Given the description of an element on the screen output the (x, y) to click on. 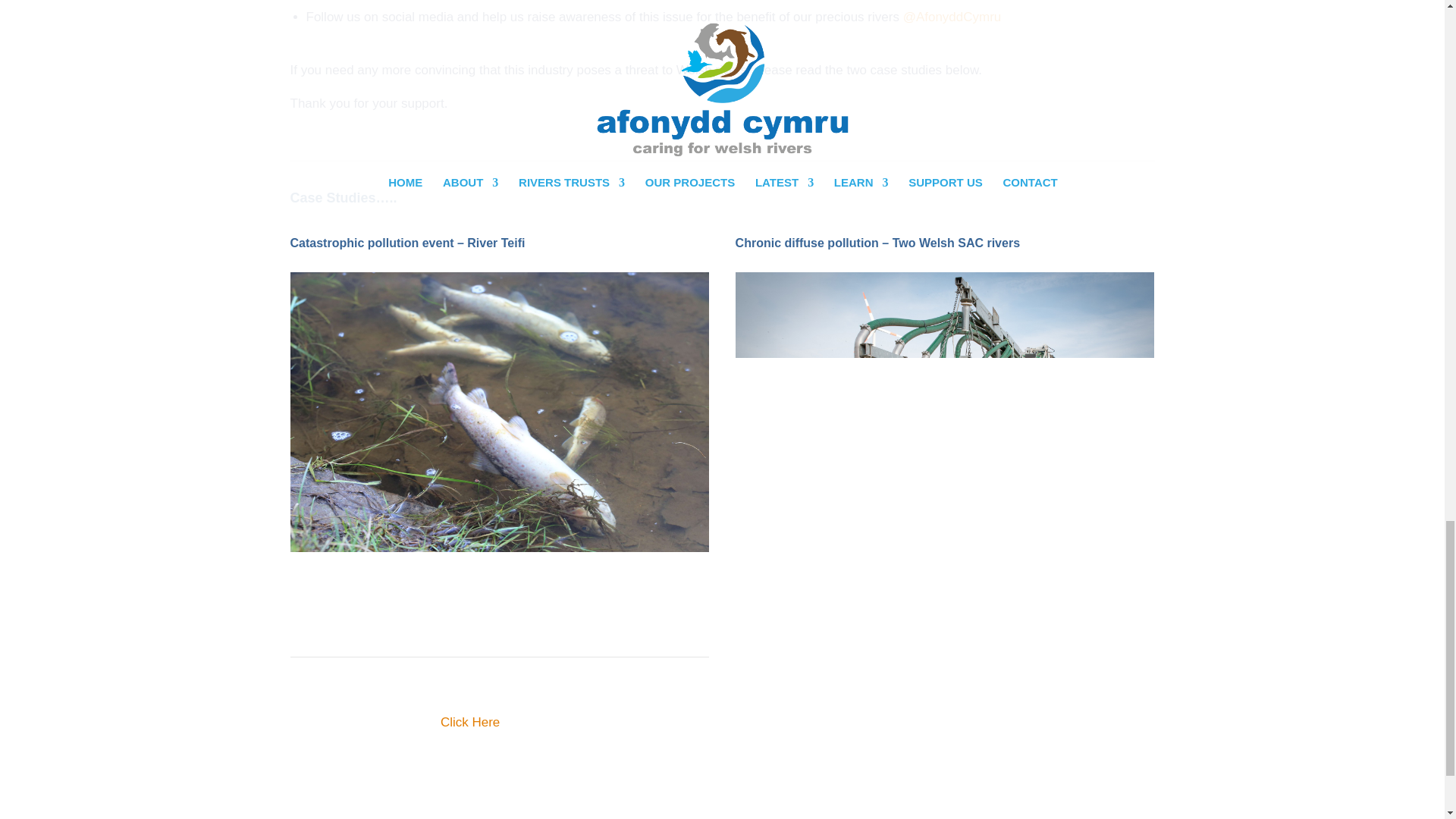
Follow on Twitter (331, 622)
Follow on Facebook (301, 622)
AY0A3548-6000 (499, 411)
